Given the description of an element on the screen output the (x, y) to click on. 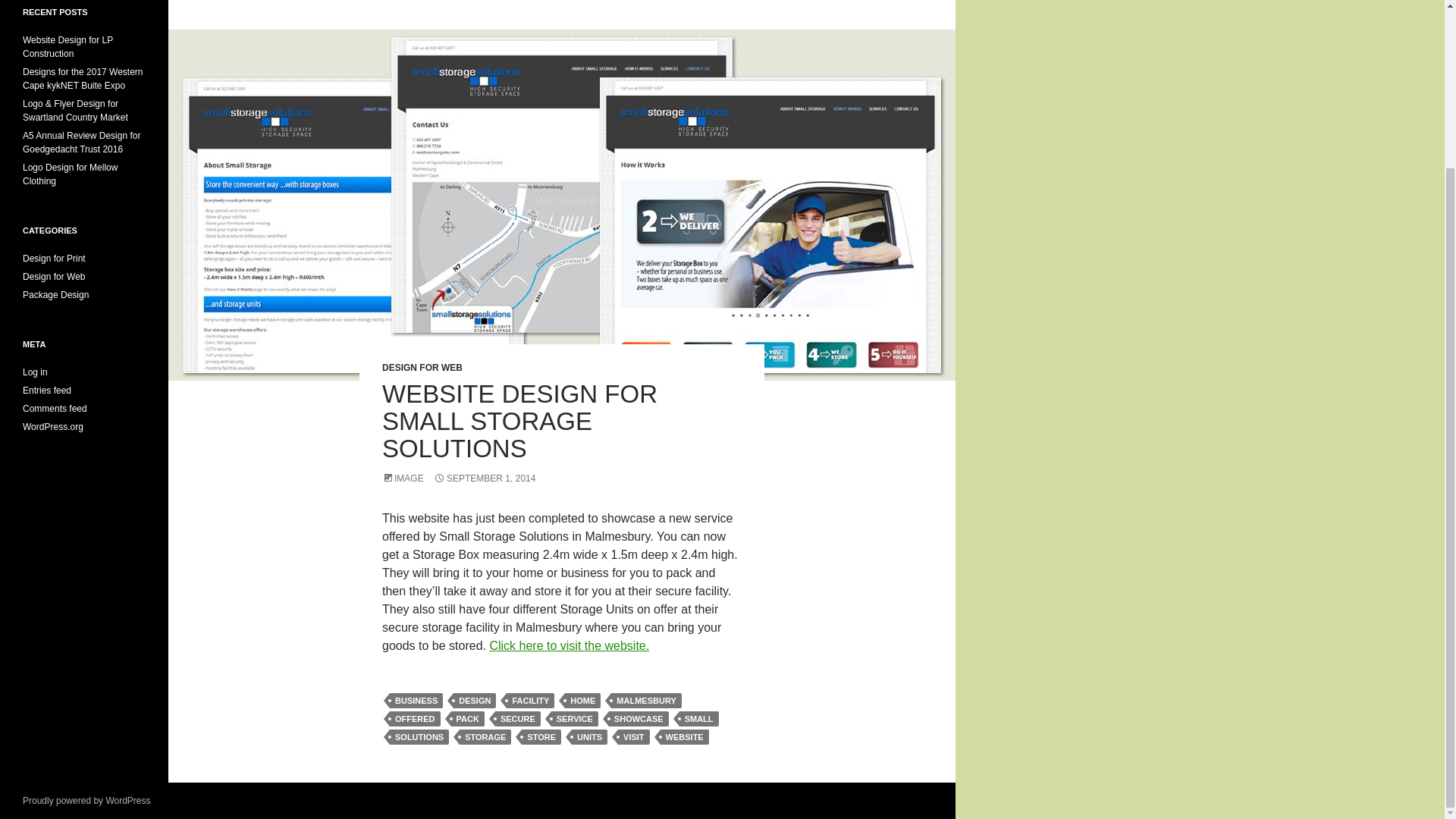
Designs for the 2017 Western Cape kykNET Buite Expo (82, 78)
WEBSITE (685, 736)
Logo Design for Mellow Clothing (70, 174)
SECURE (517, 718)
SERVICE (574, 718)
SMALL (699, 718)
A5 Annual Review Design for Goedgedacht Trust 2016 (81, 142)
SHOWCASE (638, 718)
HOME (581, 700)
DESIGN FOR WEB (422, 367)
